Given the description of an element on the screen output the (x, y) to click on. 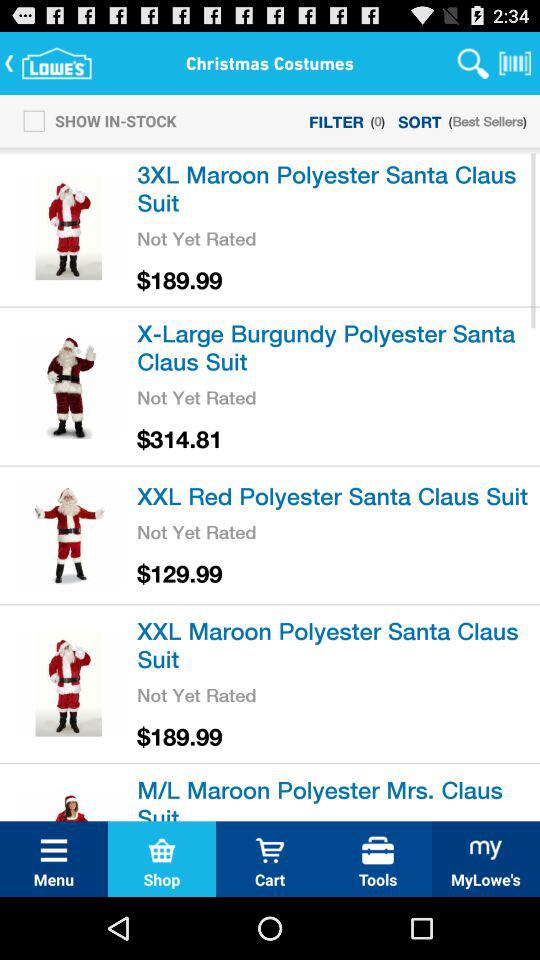
tap show in-stock icon (94, 120)
